Given the description of an element on the screen output the (x, y) to click on. 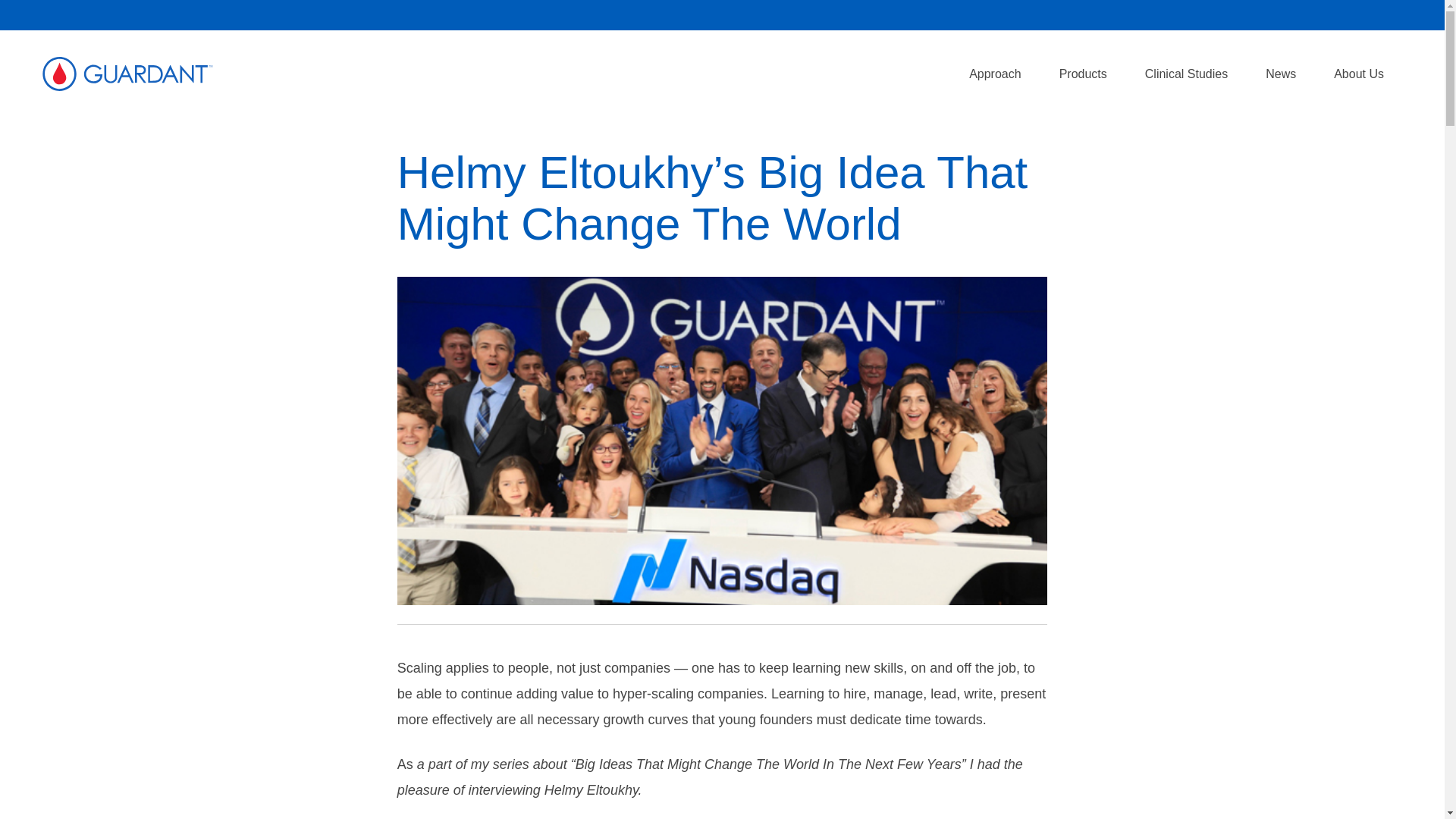
Clinical Studies (1185, 73)
Approach (995, 73)
Precision Oncology (995, 73)
About Us (1358, 73)
Products (1083, 73)
GuardantHealth.com (127, 73)
